Given the description of an element on the screen output the (x, y) to click on. 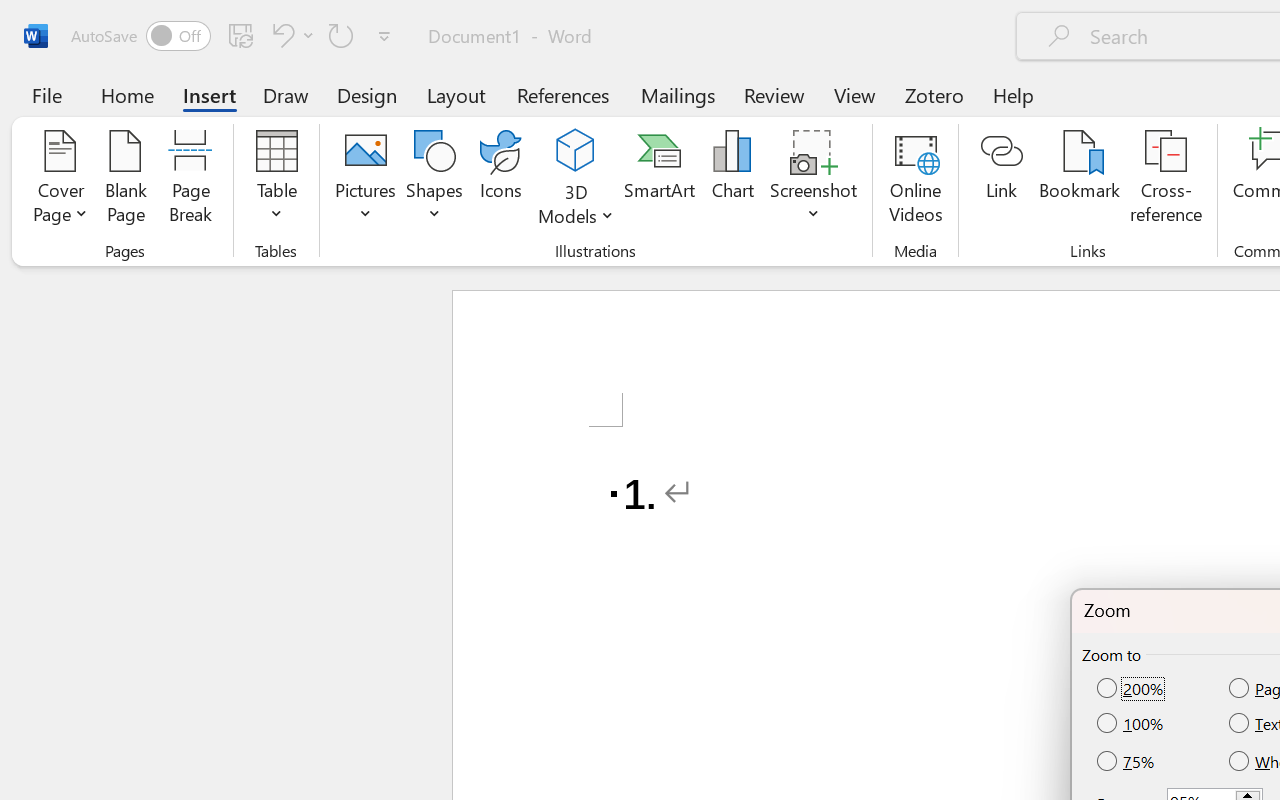
Undo Number Default (280, 35)
3D Models (576, 179)
Online Videos... (915, 179)
Pictures (365, 179)
Cover Page (60, 179)
